Given the description of an element on the screen output the (x, y) to click on. 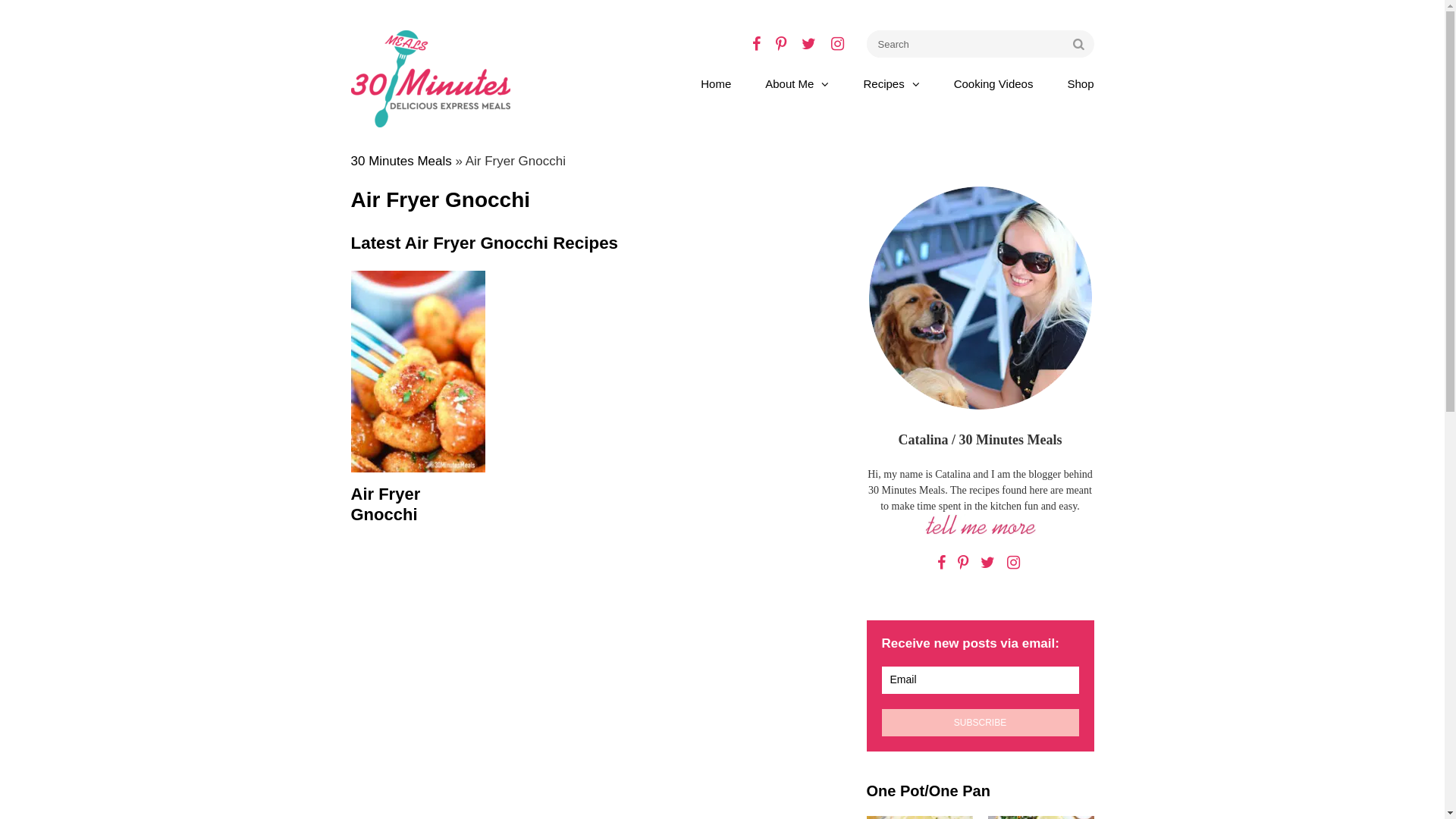
Air Fryer Gnocchi Element type: text (417, 396)
Twitter Element type: text (807, 43)
Go Element type: text (1078, 43)
About Me Element type: text (796, 84)
Cooking Videos Element type: text (993, 84)
Facebook Element type: text (756, 43)
Facebook Element type: text (941, 562)
Pinterest Element type: text (779, 43)
30 Minutes Meals Element type: text (400, 160)
Instagram Element type: text (837, 43)
Recipes Element type: text (890, 84)
Home Element type: text (715, 84)
Instagram Element type: text (1013, 562)
Shop Element type: text (1079, 84)
Twitter Element type: text (987, 562)
Subscribe Element type: text (979, 722)
Pinterest Element type: text (962, 562)
